Given the description of an element on the screen output the (x, y) to click on. 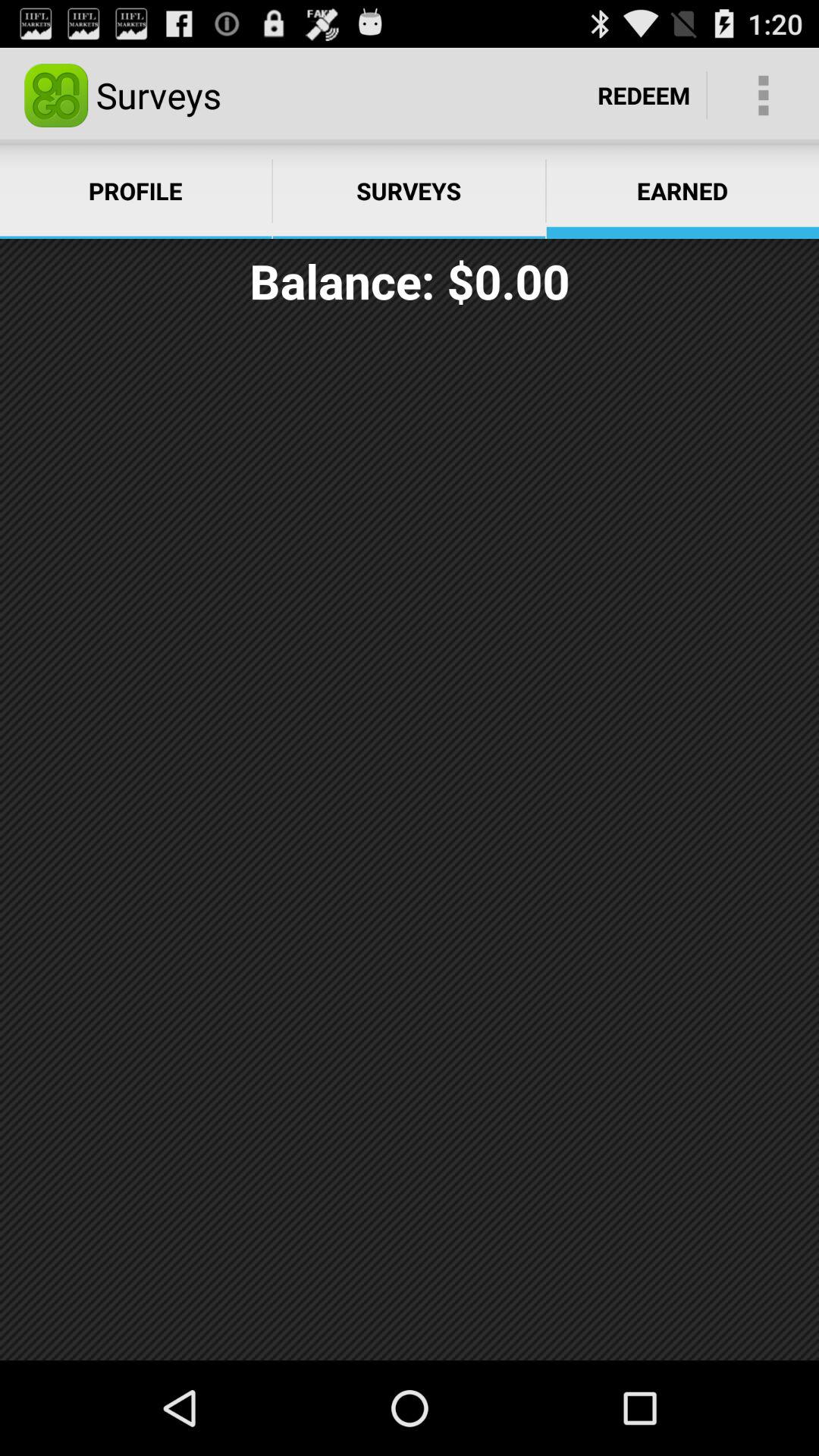
tap the icon at the center (409, 841)
